Given the description of an element on the screen output the (x, y) to click on. 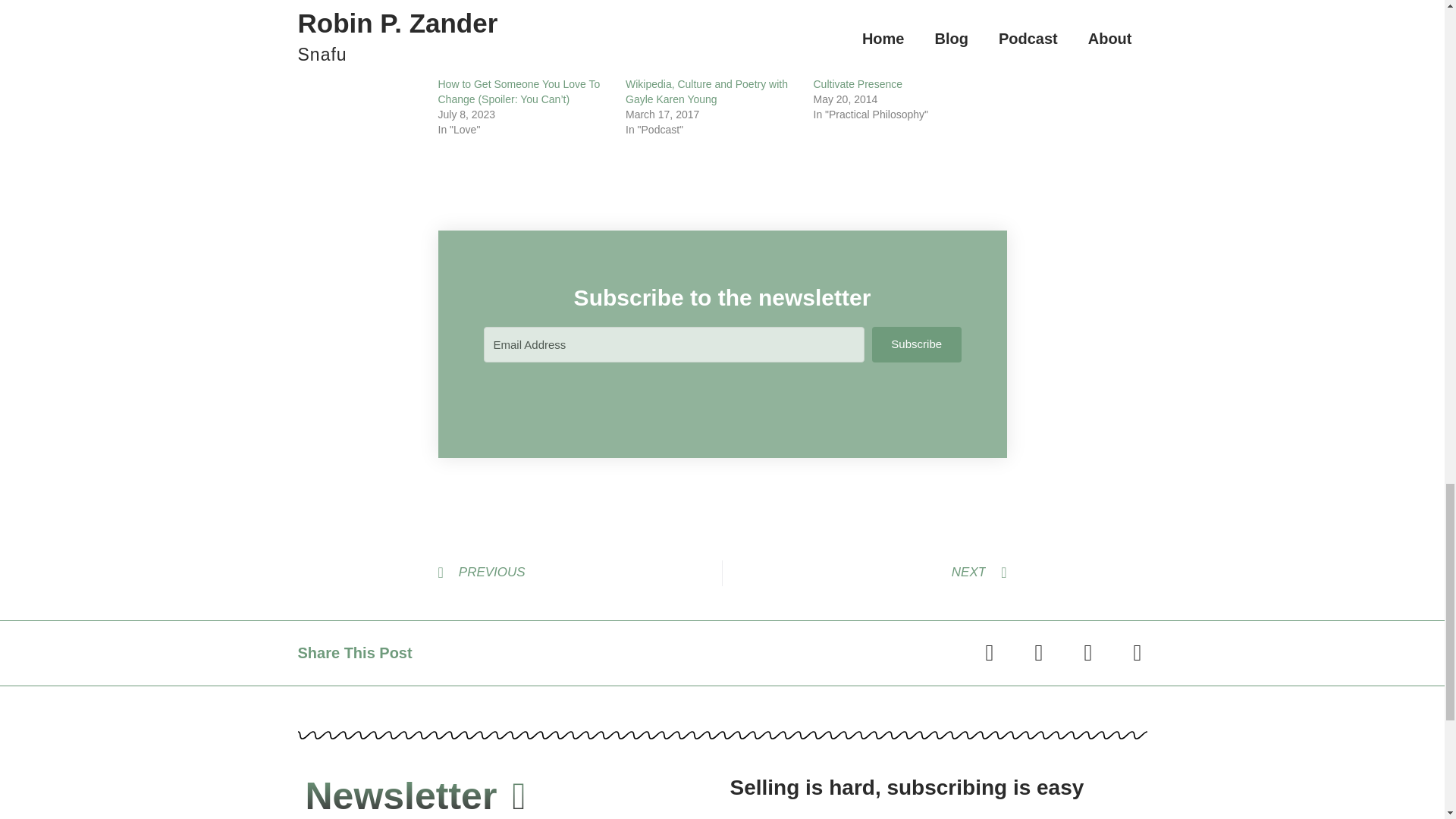
Wikipedia, Culture and Poetry with Gayle Karen Young (706, 91)
PREVIOUS (580, 573)
Cultivate Presence (857, 83)
Newsletter (414, 795)
Cultivate Presence (857, 83)
Wikipedia, Culture and Poetry with Gayle Karen Young (706, 91)
NEXT (864, 573)
Subscribe (916, 344)
